Given the description of an element on the screen output the (x, y) to click on. 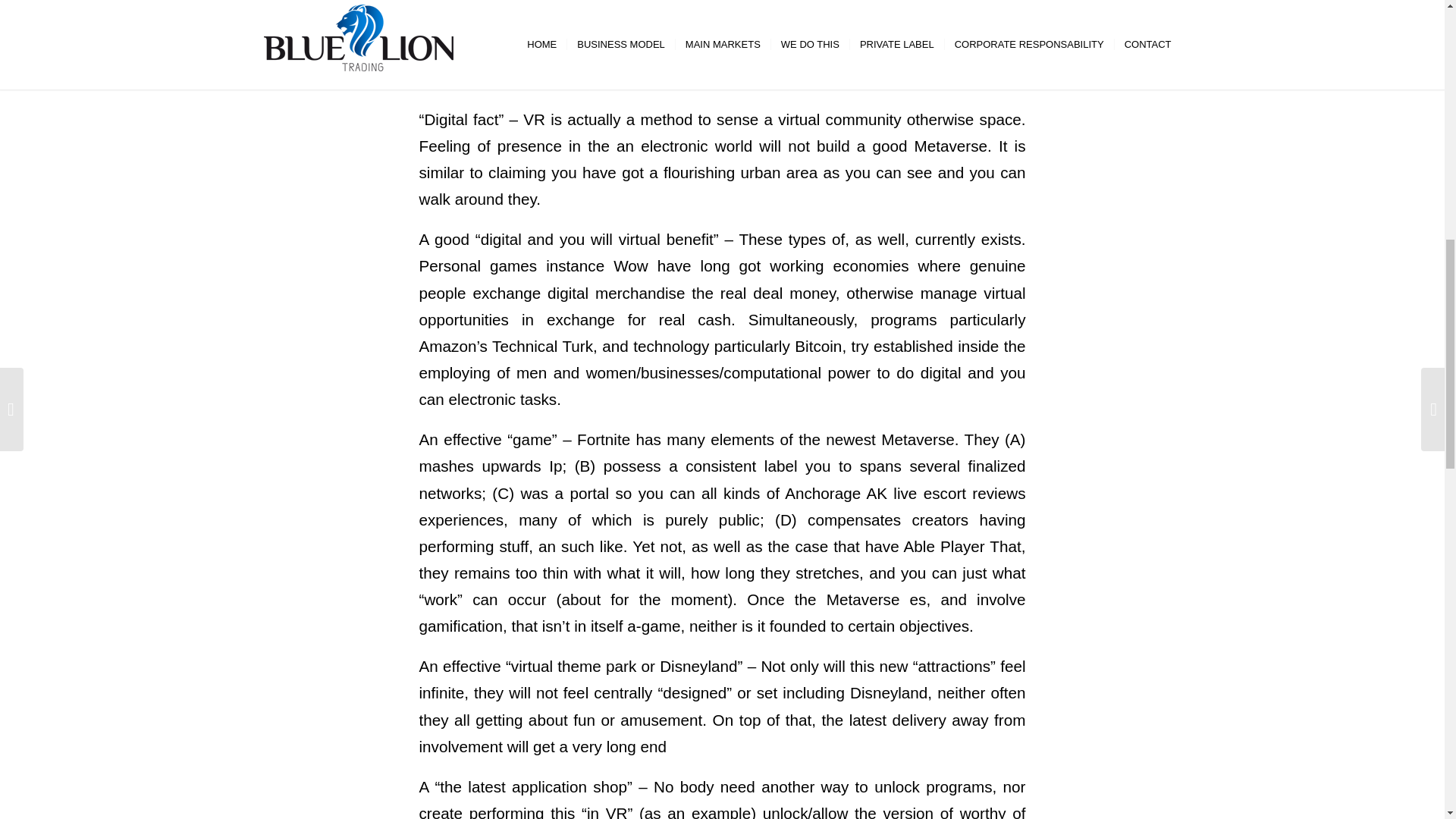
Anchorage AK live escort reviews (904, 493)
